Given the description of an element on the screen output the (x, y) to click on. 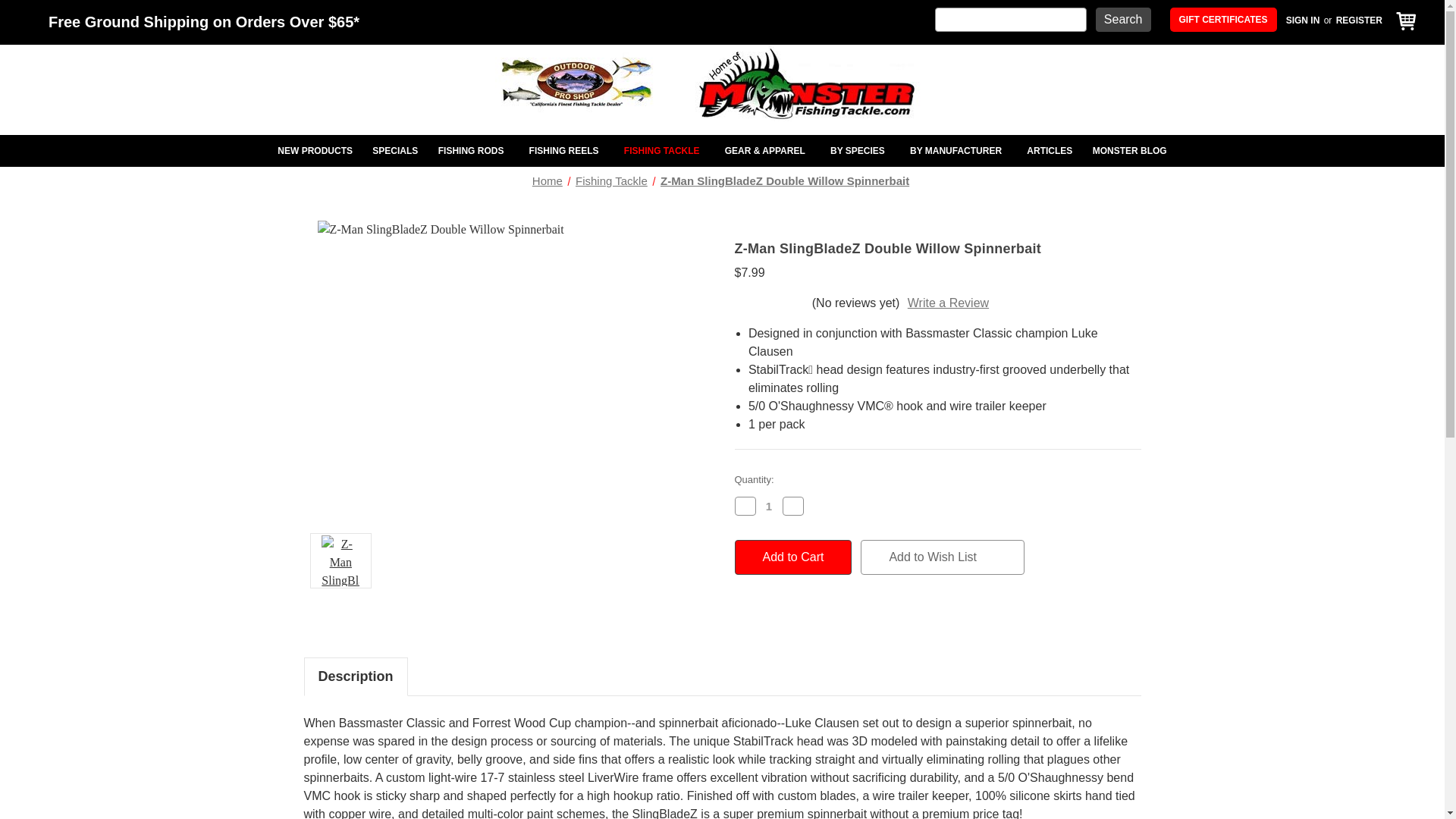
REGISTER (1358, 20)
Search (1123, 19)
FISHING RODS (473, 151)
Add to Cart (792, 556)
1 (768, 505)
FISHING REELS (565, 151)
SIGN IN (1302, 20)
Search (1123, 19)
GIFT CERTIFICATES (1223, 19)
SPECIALS (395, 151)
